Given the description of an element on the screen output the (x, y) to click on. 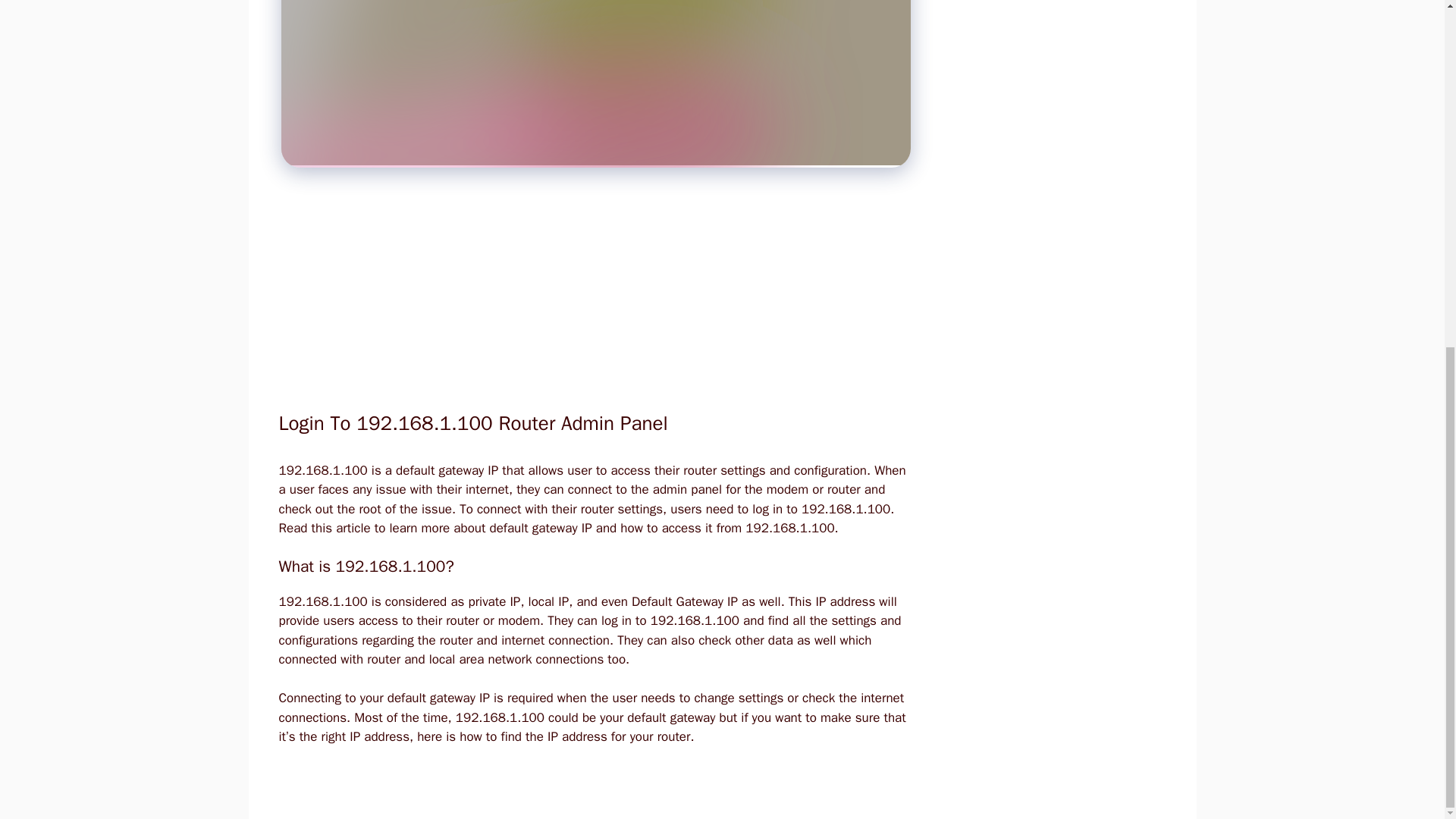
Advertisement (587, 299)
